Given the description of an element on the screen output the (x, y) to click on. 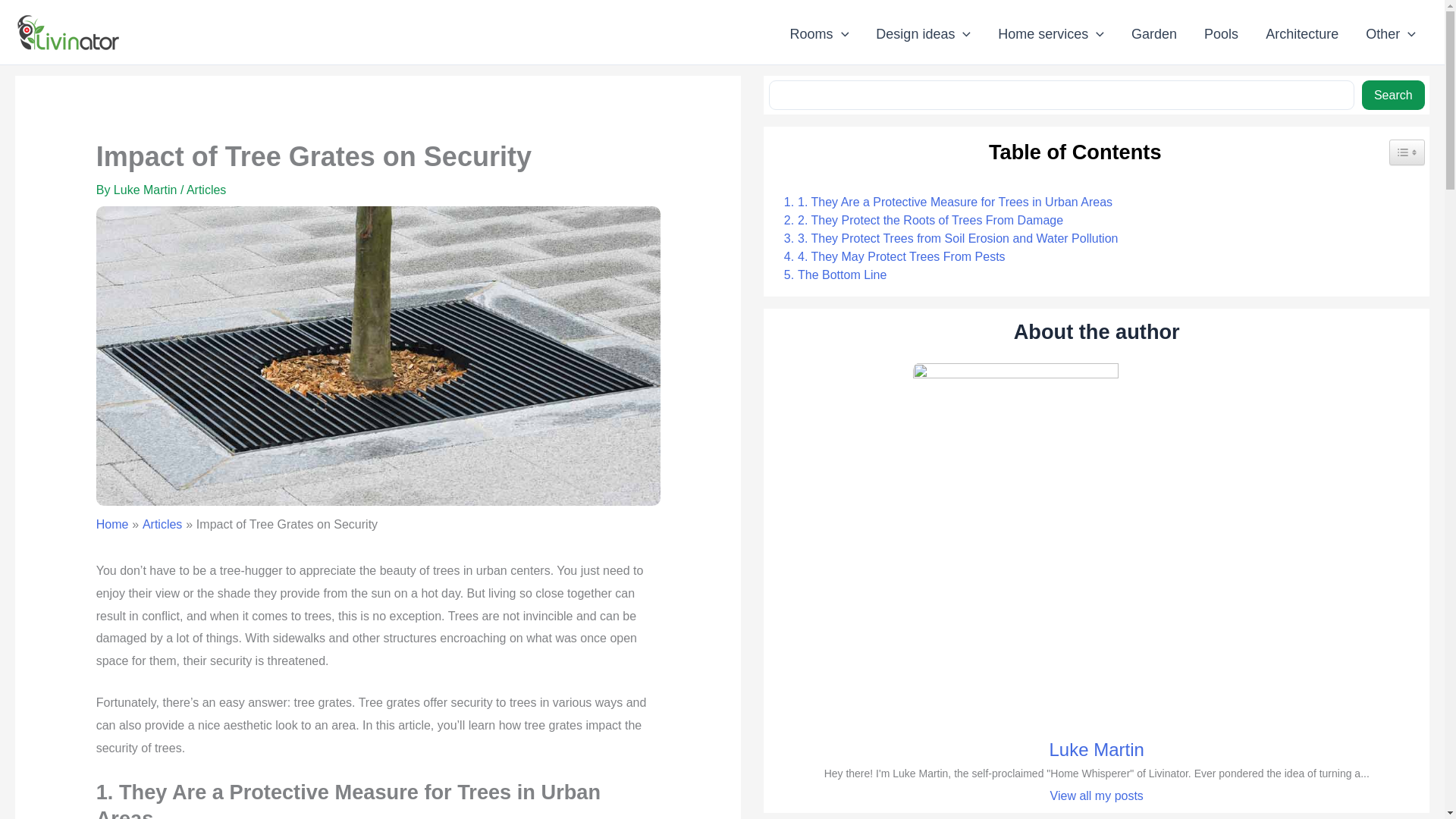
Rooms (819, 34)
3. They Protect Trees from Soil Erosion and Water Pollution (947, 239)
Home services (1051, 34)
2. They Protect the Roots of Trees From Damage (919, 220)
Garden (1154, 34)
Pools (1221, 34)
Other (1390, 34)
The Bottom Line (831, 275)
View all posts by Luke Martin (146, 189)
Design ideas (922, 34)
1. They Are a Protective Measure for Trees in Urban Areas (944, 202)
Architecture (1302, 34)
4. They May Protect Trees From Pests (891, 257)
